Given the description of an element on the screen output the (x, y) to click on. 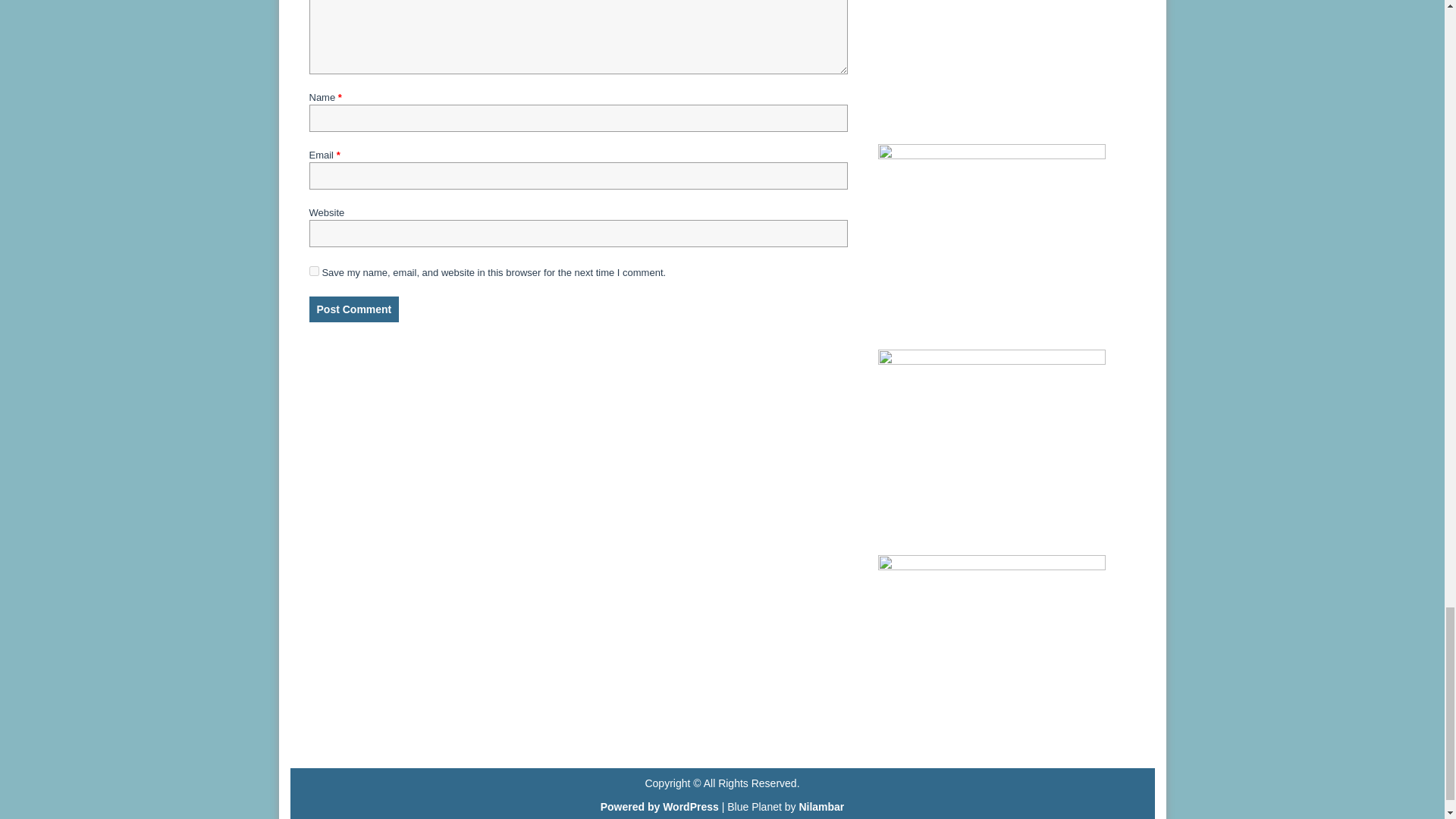
yes (313, 271)
Post Comment (353, 309)
Post Comment (353, 309)
